Given the description of an element on the screen output the (x, y) to click on. 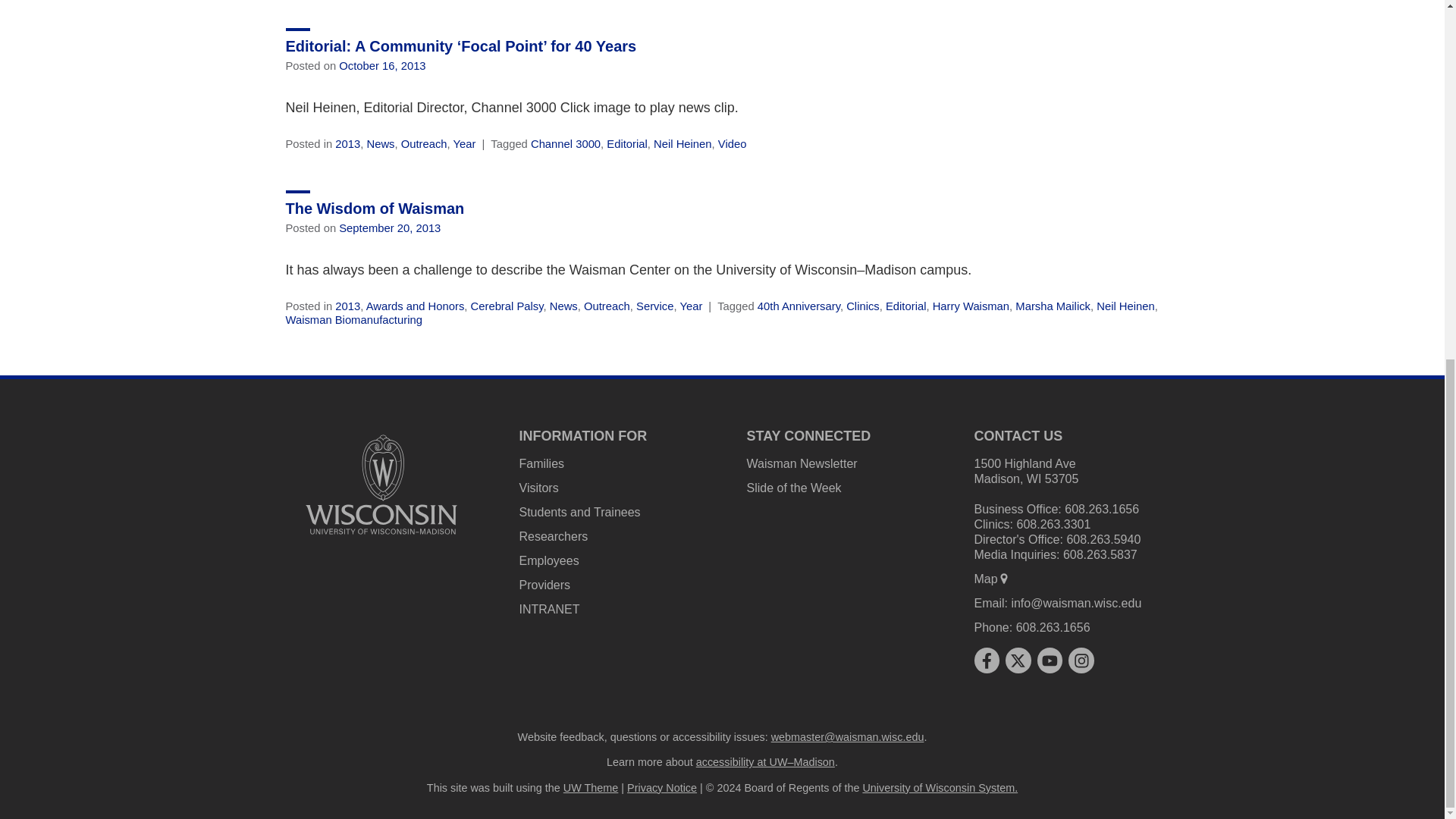
instagram (1081, 660)
facebook (986, 660)
map marker (1003, 578)
University logo that links to main university website (380, 484)
x twitter (1018, 660)
youtube (1049, 660)
